Given the description of an element on the screen output the (x, y) to click on. 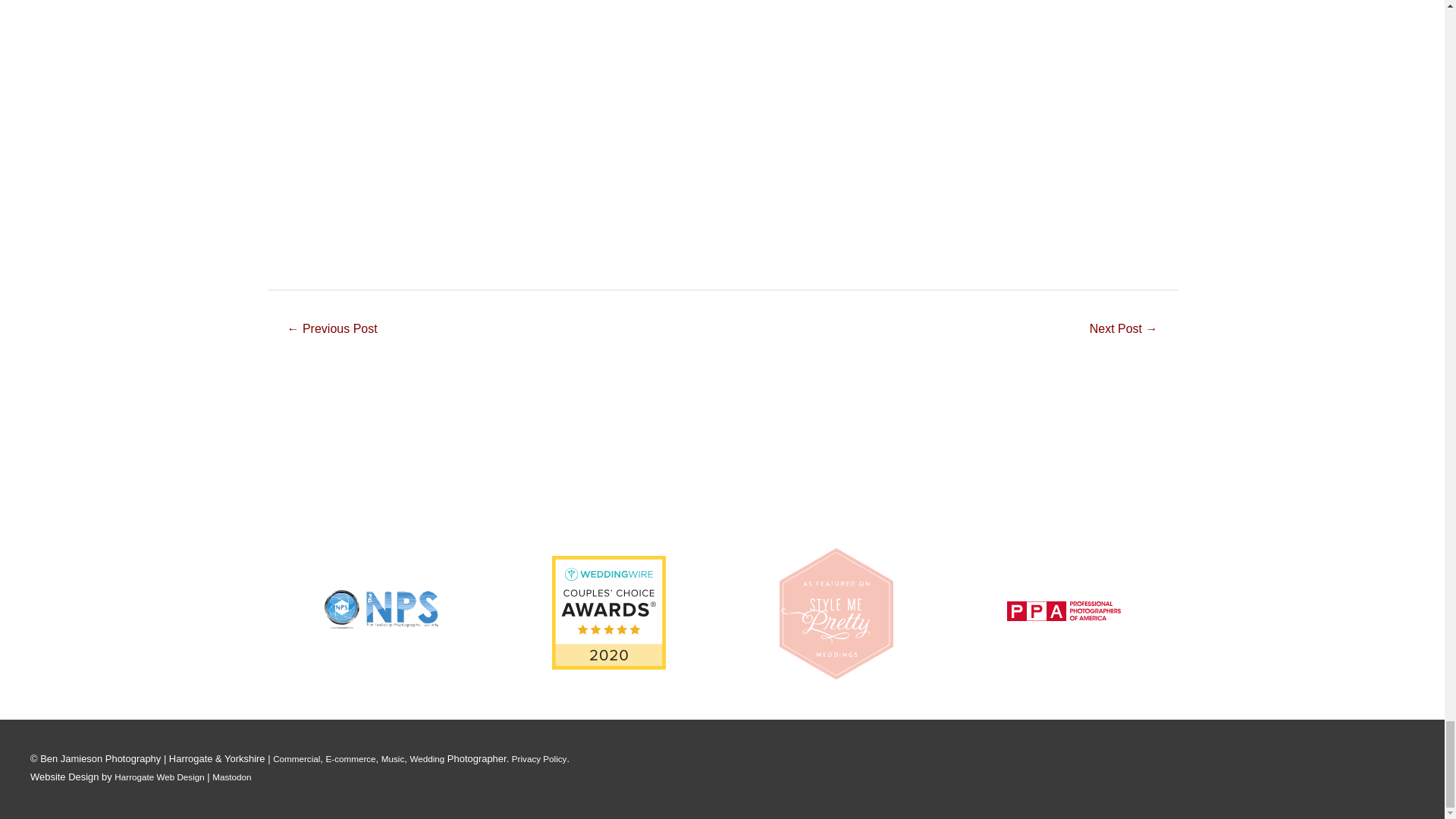
Music (392, 758)
Harrogate Web Design (159, 777)
Property Photography in Harrogate (1123, 329)
professional-photographers-of-america-ppa-vector-logo (1064, 610)
Privacy Policy (539, 758)
My Commercial Photography Portfolio (296, 758)
My Wedding Photography Portfolio (426, 758)
E-commerce (350, 758)
Commercial (296, 758)
national-photographic-society (381, 608)
